Given the description of an element on the screen output the (x, y) to click on. 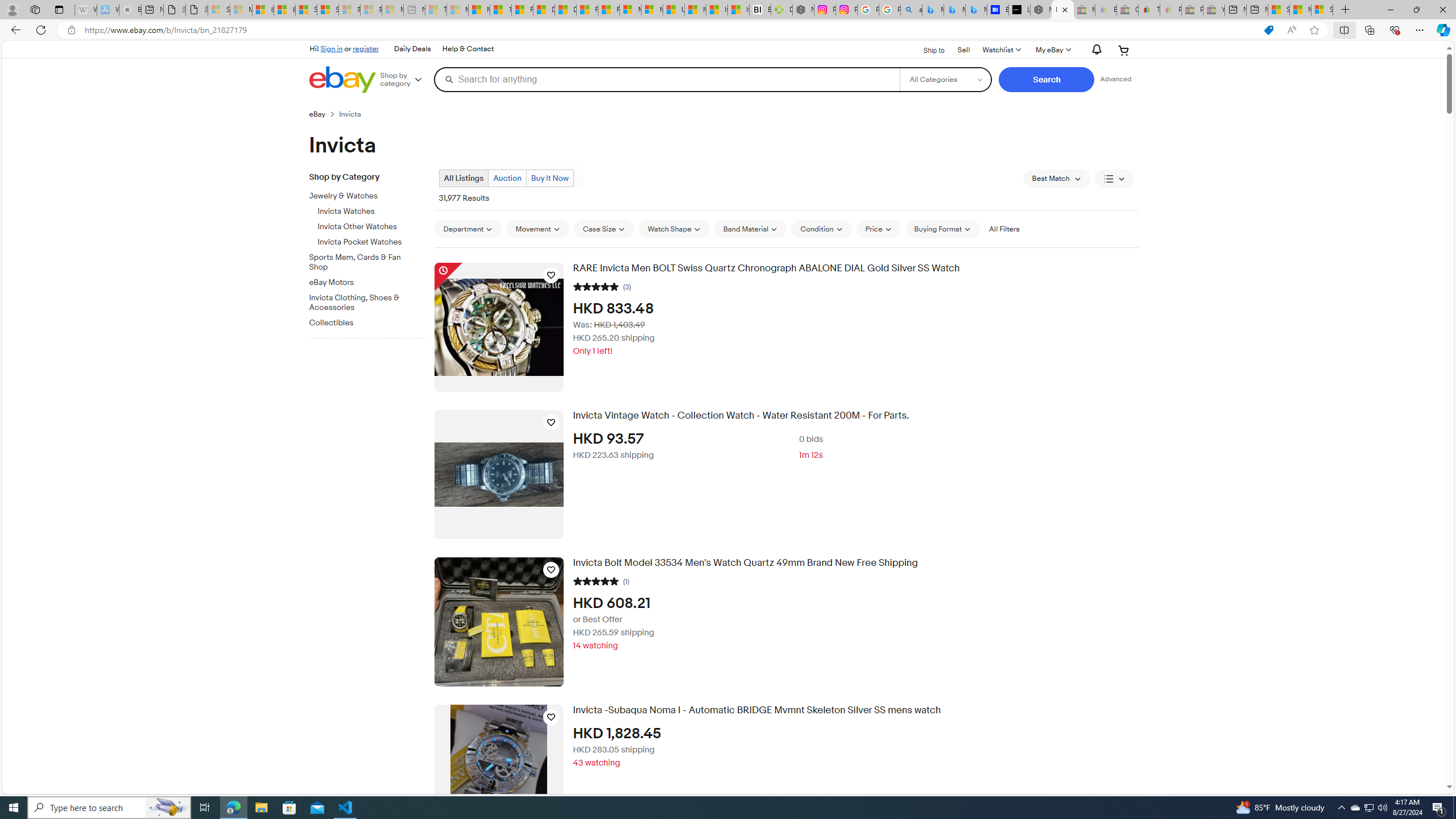
Invicta Watches (371, 209)
Yard, Garden & Outdoor Living - Sleeping (1214, 9)
Auction (506, 177)
Sign in to your Microsoft account - Sleeping (218, 9)
Press Room - eBay Inc. - Sleeping (1192, 9)
Sports Mem, Cards & Fan Shop (371, 260)
Band Material (750, 229)
Help & Contact (467, 49)
Sort: Best Match (1056, 178)
Expand Cart (1123, 49)
Case Size (603, 229)
AutomationID: gh-eb-Alerts (1094, 49)
All Filters (1004, 229)
